Given the description of an element on the screen output the (x, y) to click on. 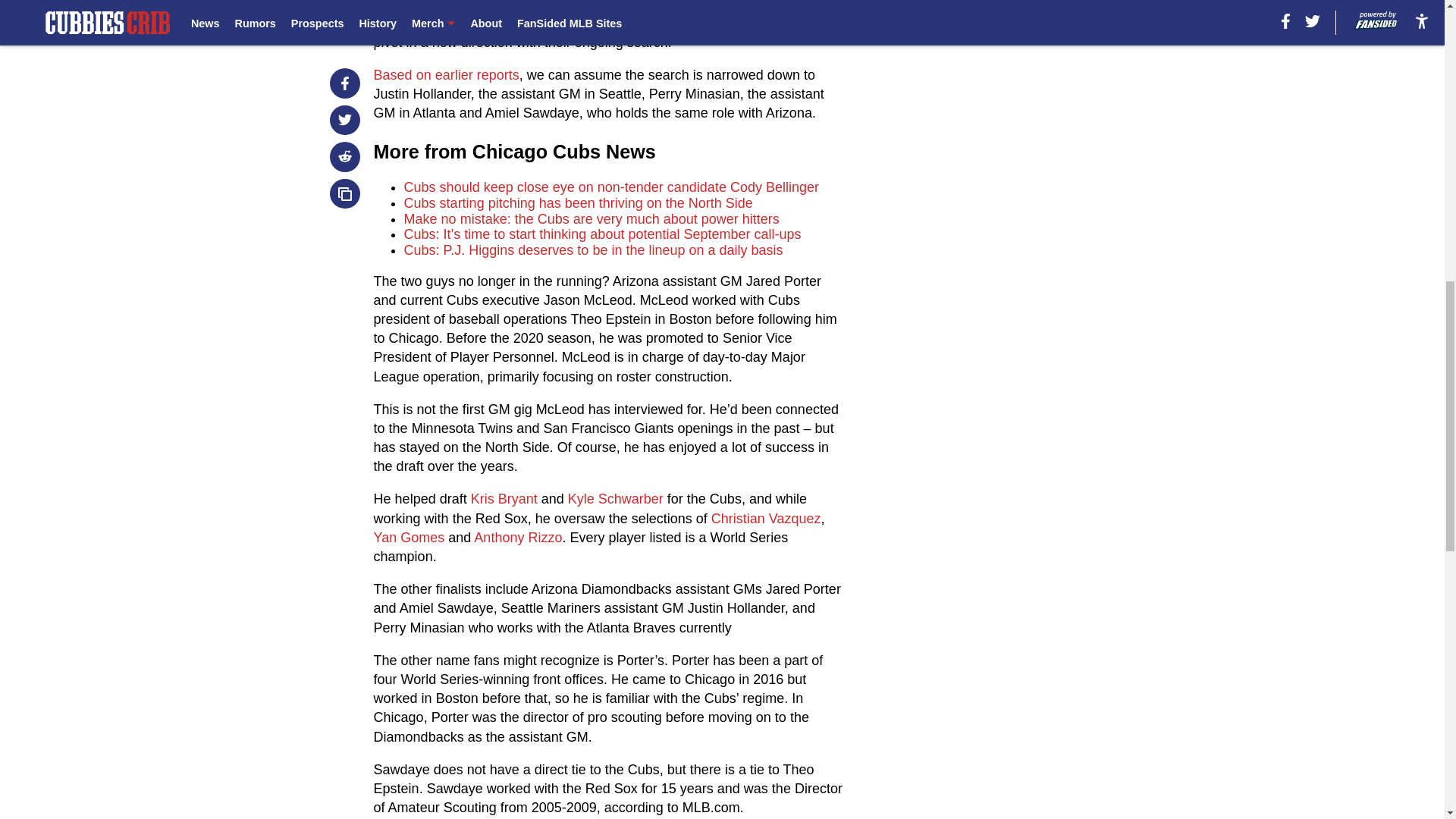
Make no mistake: the Cubs are very much about power hitters (591, 218)
Kris Bryant (503, 498)
Based on earlier reports (446, 74)
Cubs starting pitching has been thriving on the North Side (578, 202)
